Given the description of an element on the screen output the (x, y) to click on. 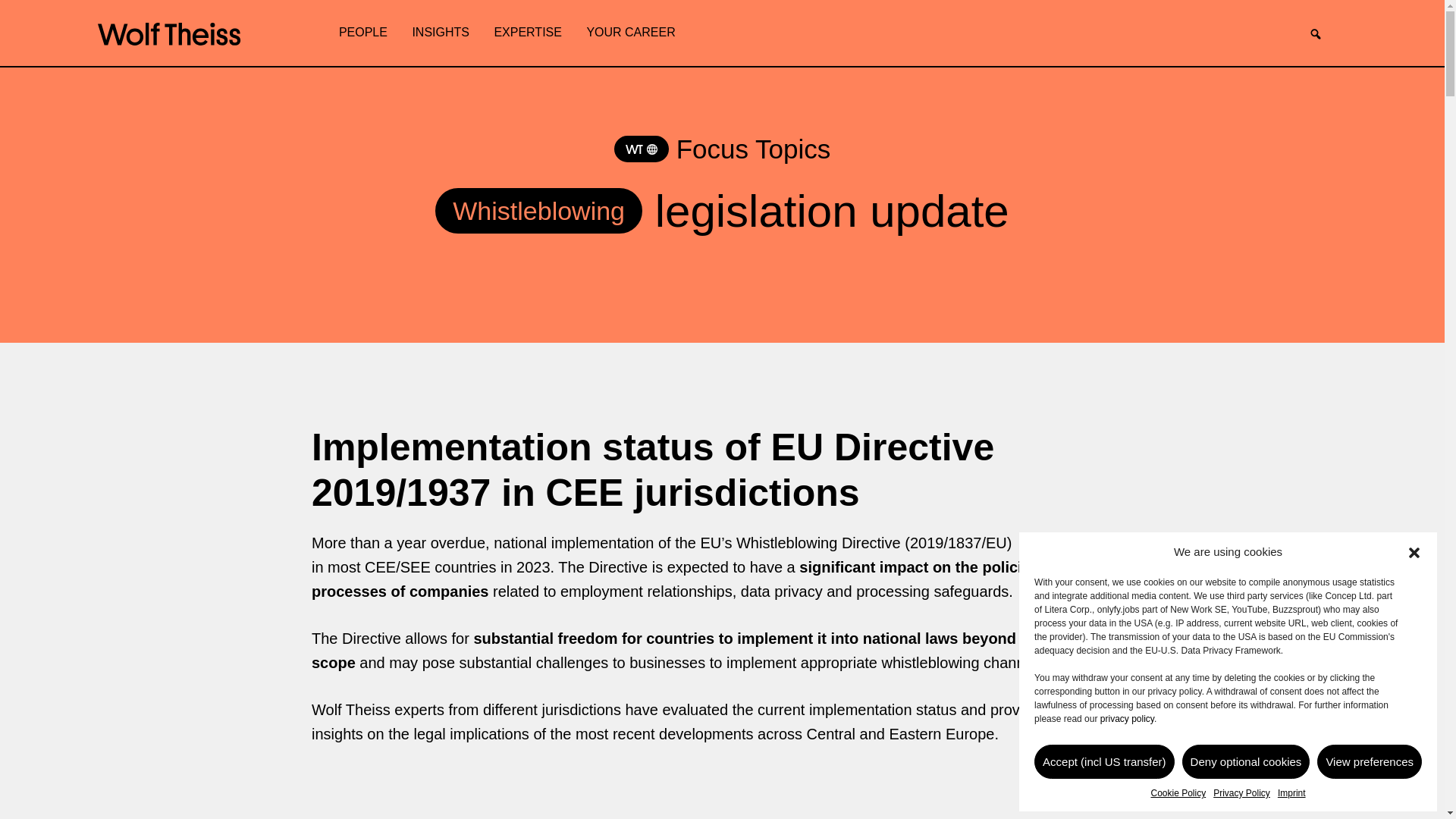
Deny optional cookies (1246, 761)
PEOPLE (363, 32)
Cookie Policy (1177, 793)
View preferences (1369, 761)
INSIGHTS (440, 32)
Imprint (1292, 793)
privacy policy (1127, 718)
Privacy Policy (1240, 793)
EXPERTISE (527, 32)
